Given the description of an element on the screen output the (x, y) to click on. 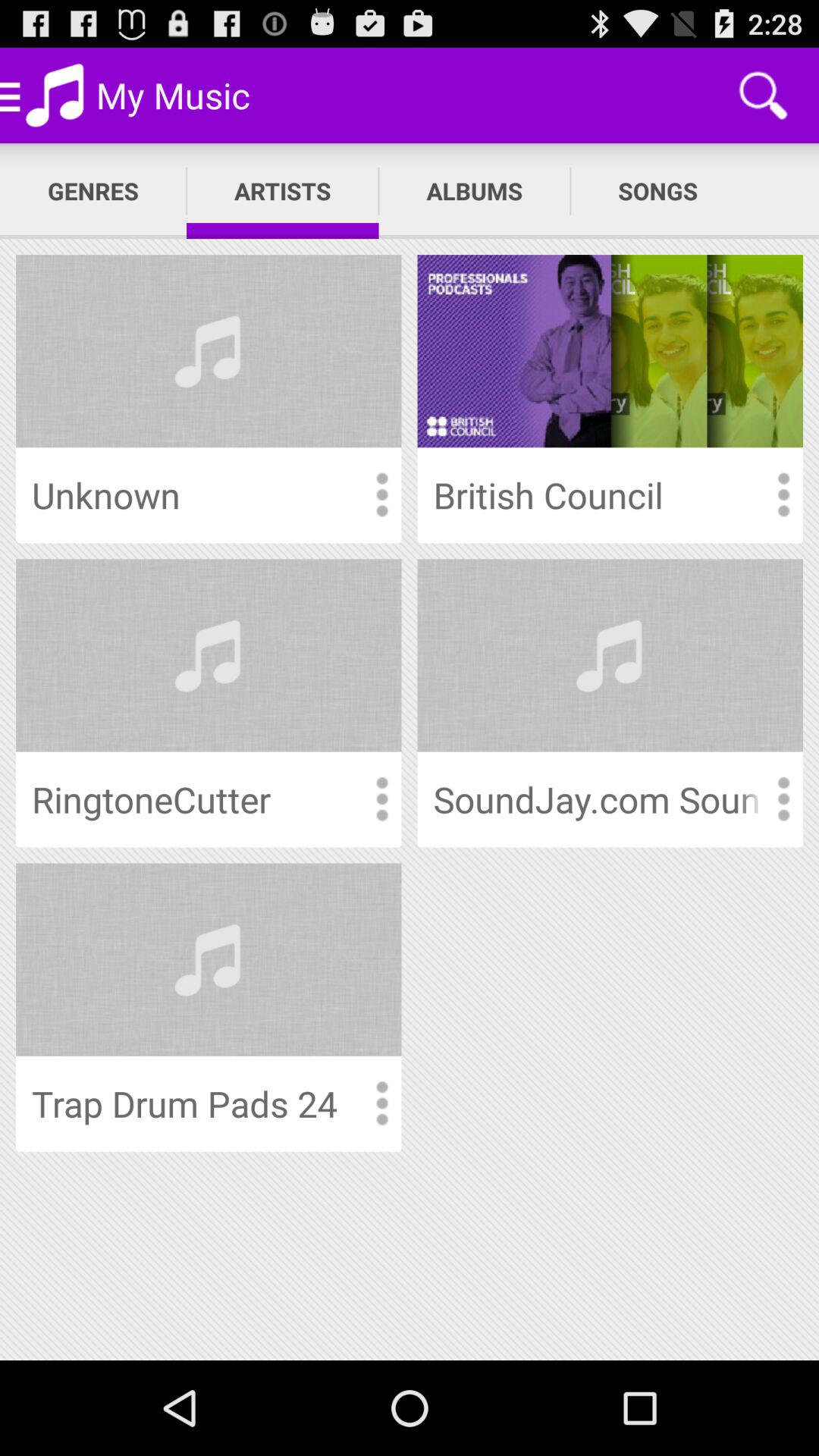
see artist options (783, 495)
